Given the description of an element on the screen output the (x, y) to click on. 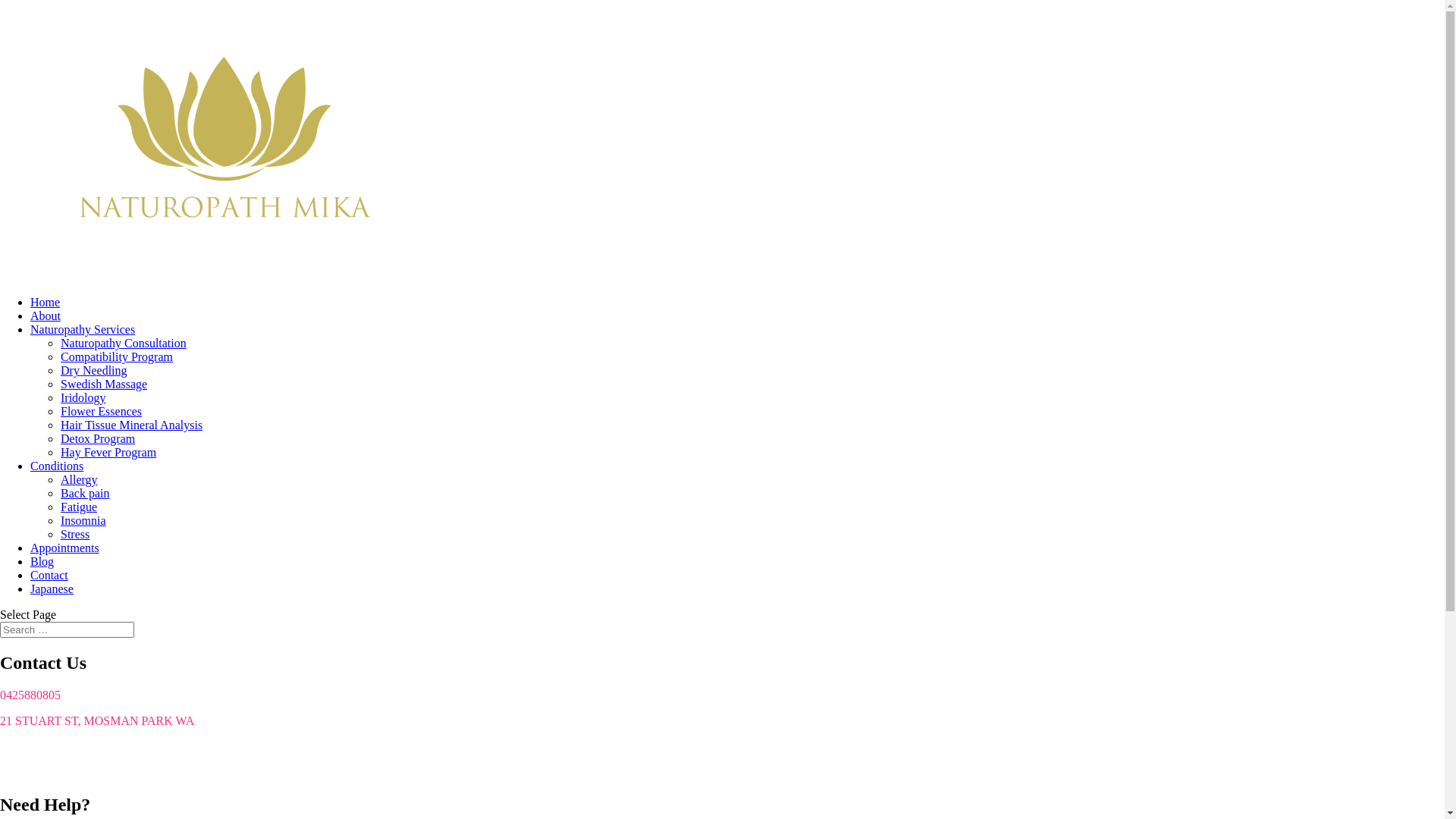
Insomnia Element type: text (83, 520)
Search for: Element type: hover (67, 629)
Back pain Element type: text (84, 492)
Swedish Massage Element type: text (103, 383)
About Element type: text (45, 315)
Allergy Element type: text (78, 479)
Detox Program Element type: text (97, 438)
Naturopathy Services Element type: text (82, 329)
Hair Tissue Mineral Analysis Element type: text (131, 424)
Flower Essences Element type: text (100, 410)
Compatibility Program Element type: text (116, 356)
Blog Element type: text (41, 561)
Appointments Element type: text (64, 547)
Dry Needling Element type: text (93, 370)
Home Element type: text (44, 301)
Naturopathy Consultation Element type: text (123, 342)
Japanese Element type: text (51, 588)
Stress Element type: text (74, 533)
Fatigue Element type: text (78, 506)
Hay Fever Program Element type: text (108, 451)
Iridology Element type: text (83, 397)
Conditions Element type: text (56, 465)
Contact Element type: text (49, 574)
